Given the description of an element on the screen output the (x, y) to click on. 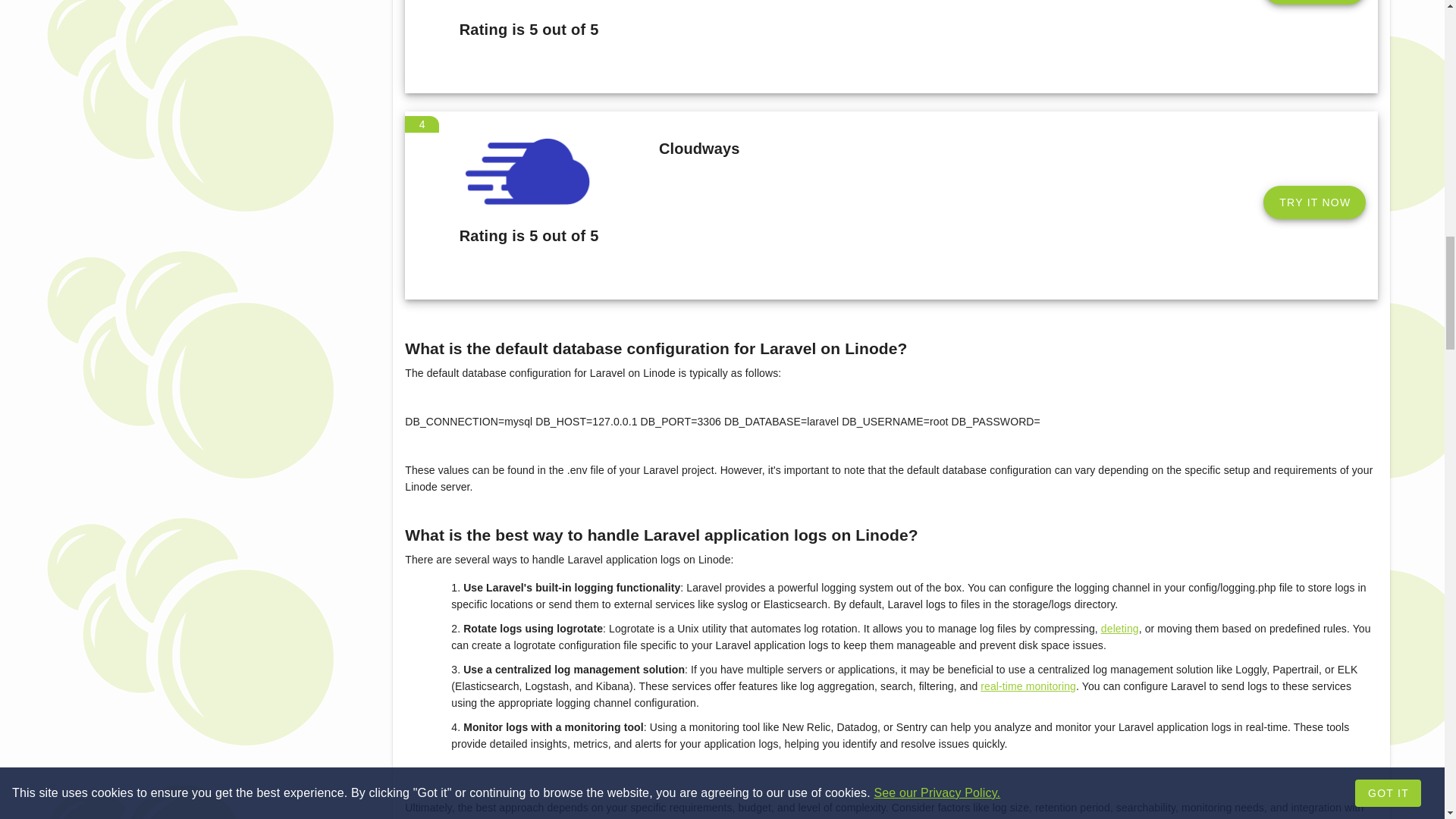
TRY IT NOW (1314, 2)
